Given the description of an element on the screen output the (x, y) to click on. 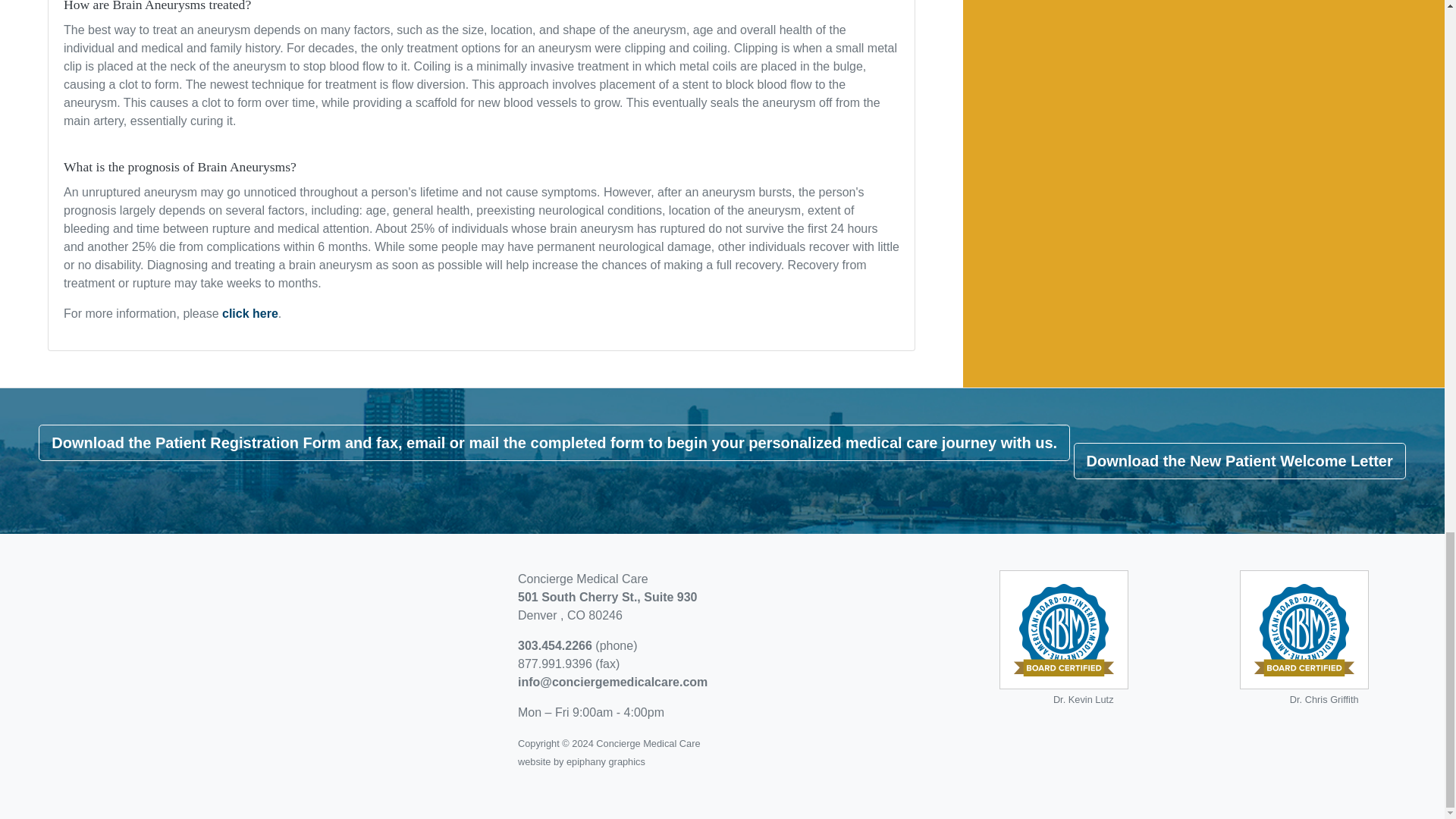
303.454.2266 (556, 645)
Download the New Patient Welcome Letter (1240, 461)
website by epiphany graphics (581, 760)
501 South Cherry St., Suite 930 (607, 596)
click here (250, 313)
